Given the description of an element on the screen output the (x, y) to click on. 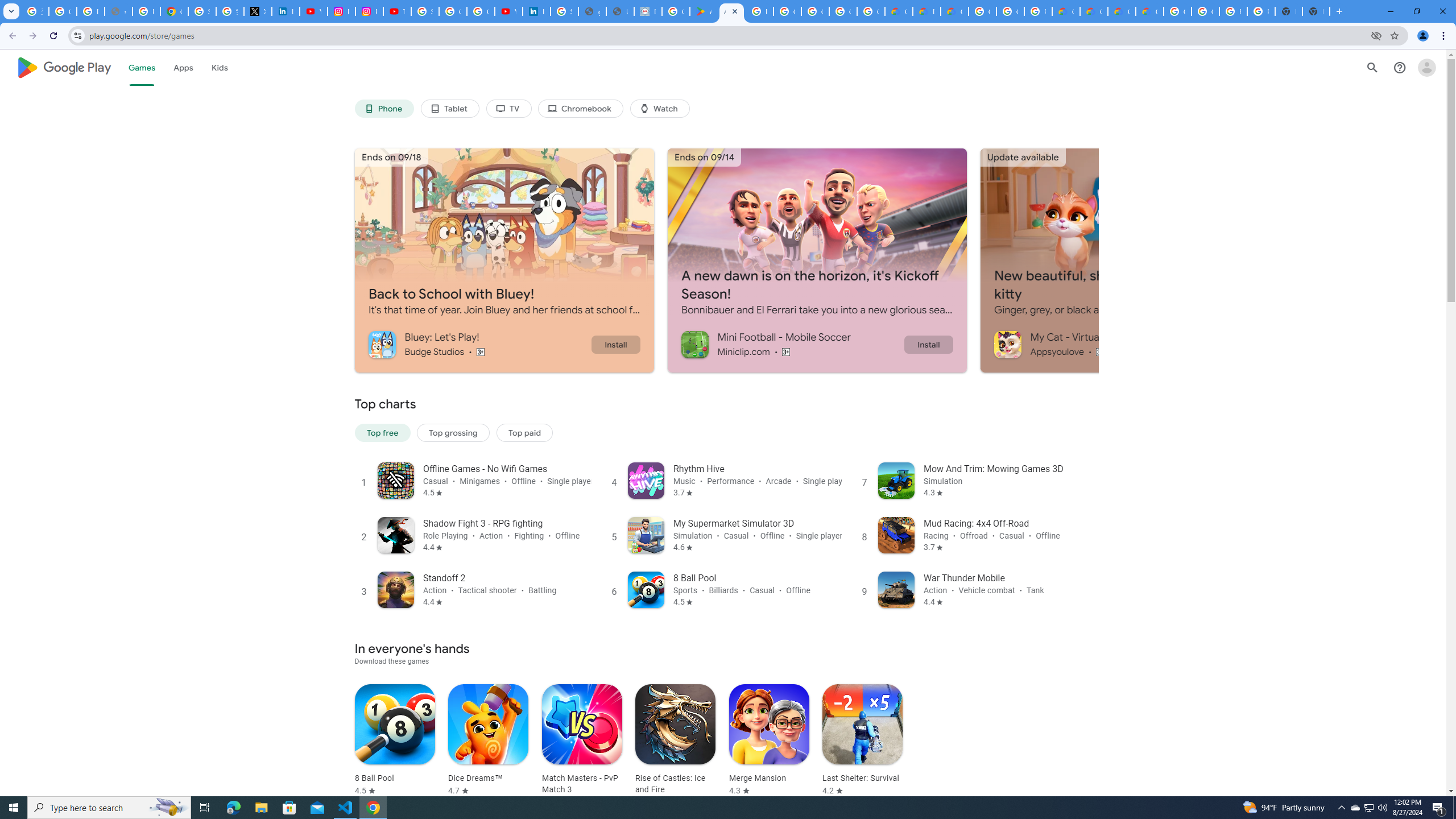
Merge Mansion Rated 4.3 stars out of five stars (768, 739)
Google Cloud Platform (1205, 11)
Phone (383, 108)
